Given the description of an element on the screen output the (x, y) to click on. 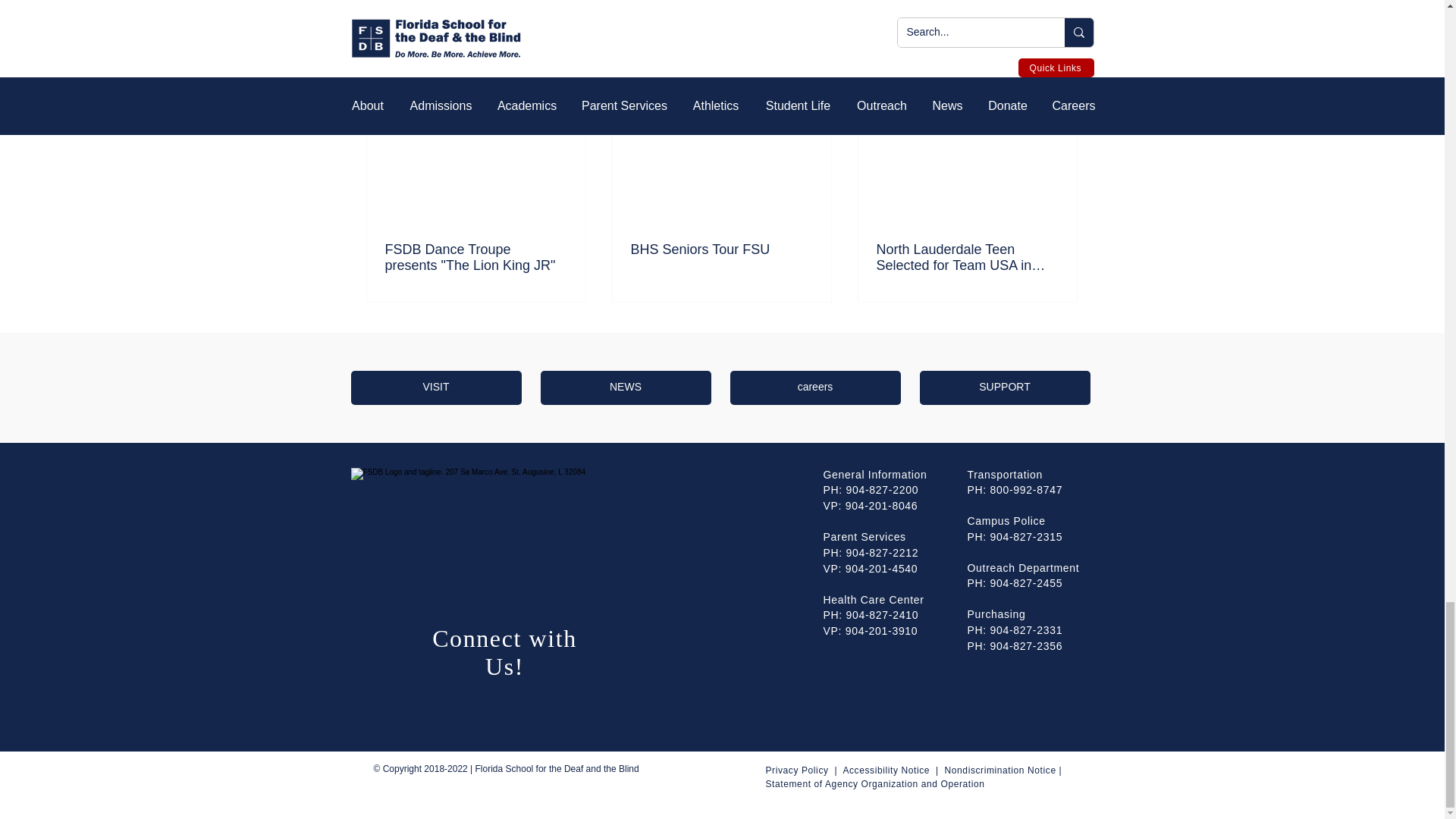
See All (1061, 73)
BHS Seniors Tour FSU (721, 248)
FSDB Dance Troupe presents "The Lion King JR" (476, 256)
FSDB White Logo, Tagline, and Address (483, 519)
